Given the description of an element on the screen output the (x, y) to click on. 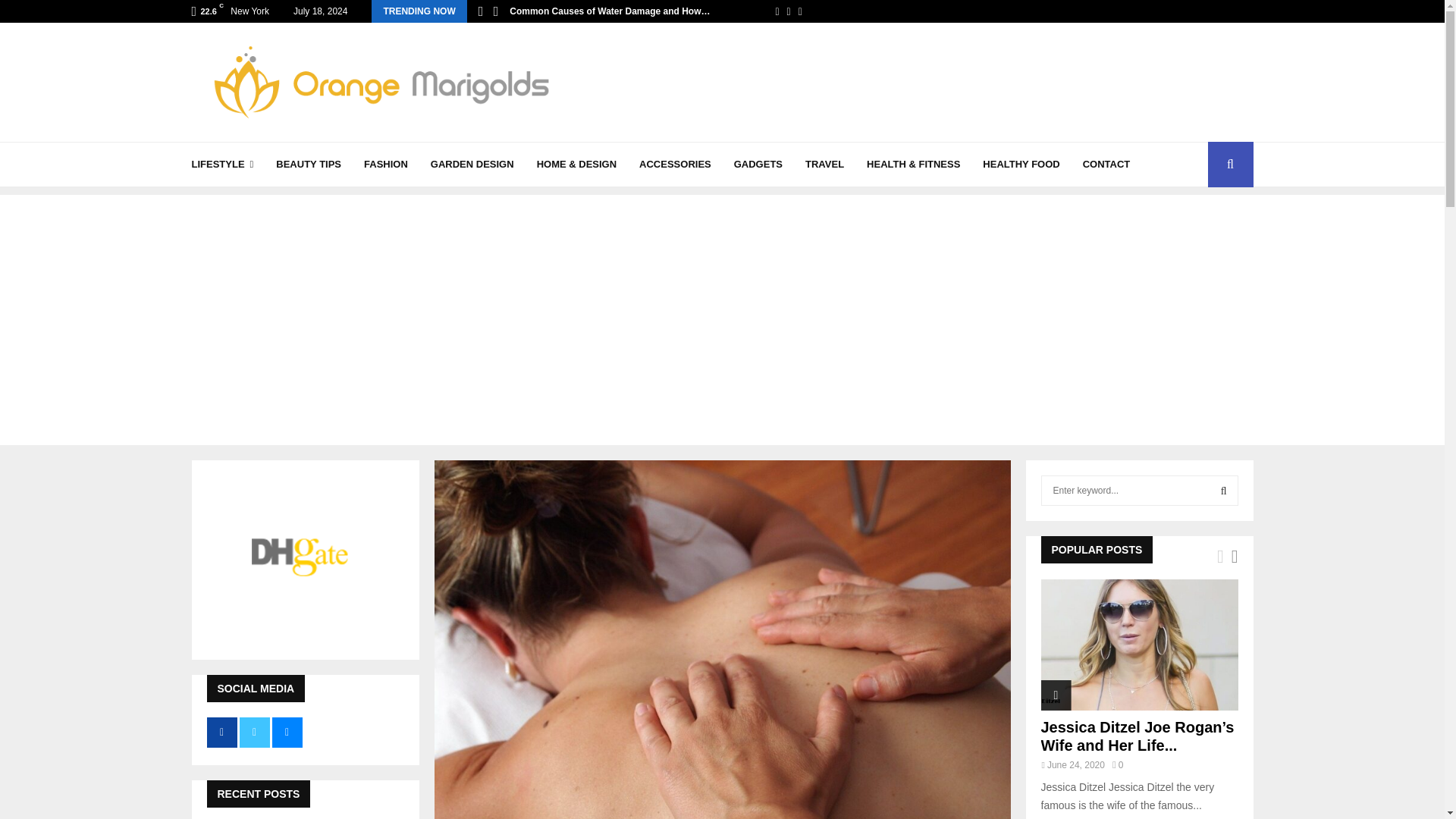
FASHION (385, 164)
GARDEN DESIGN (471, 164)
HEALTHY FOOD (1020, 164)
LIFESTYLE (221, 164)
BEAUTY TIPS (308, 164)
GADGETS (758, 164)
ACCESSORIES (675, 164)
CONTACT (1107, 164)
